Given the description of an element on the screen output the (x, y) to click on. 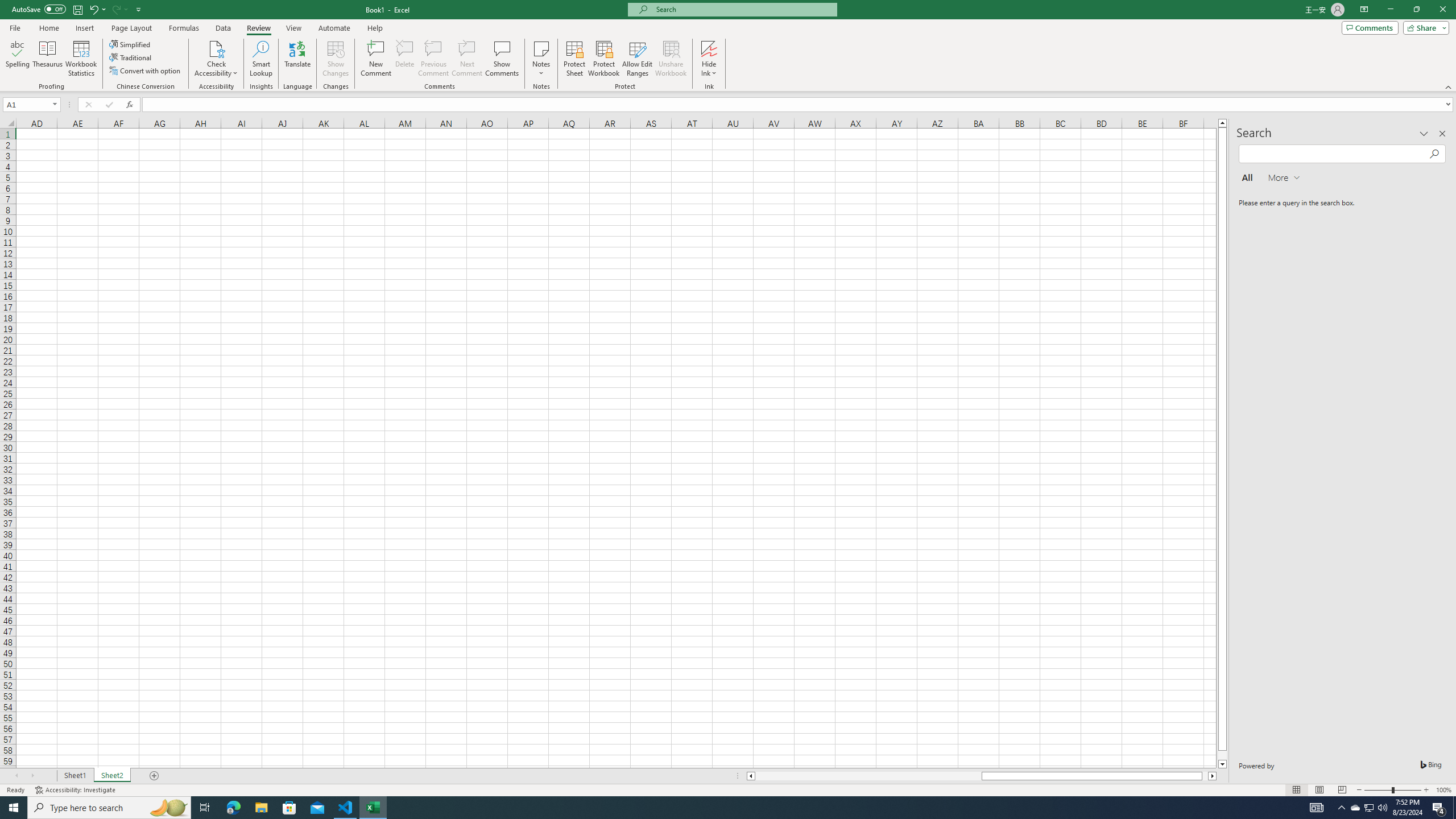
Sheet2 (112, 775)
Protect Workbook... (603, 58)
